Given the description of an element on the screen output the (x, y) to click on. 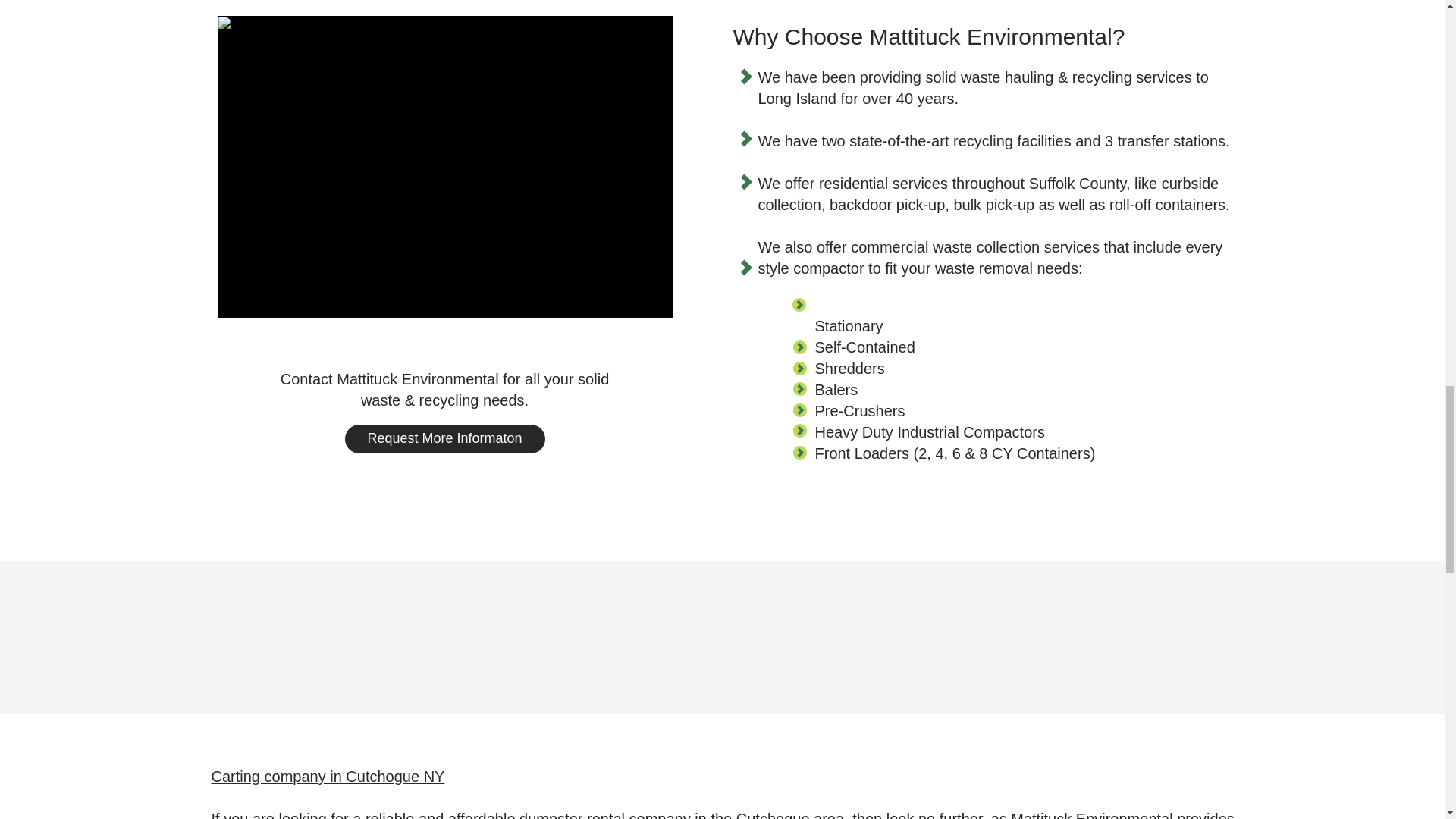
Carting company in Cutchogue NY (327, 776)
Request More Informaton (444, 439)
